Given the description of an element on the screen output the (x, y) to click on. 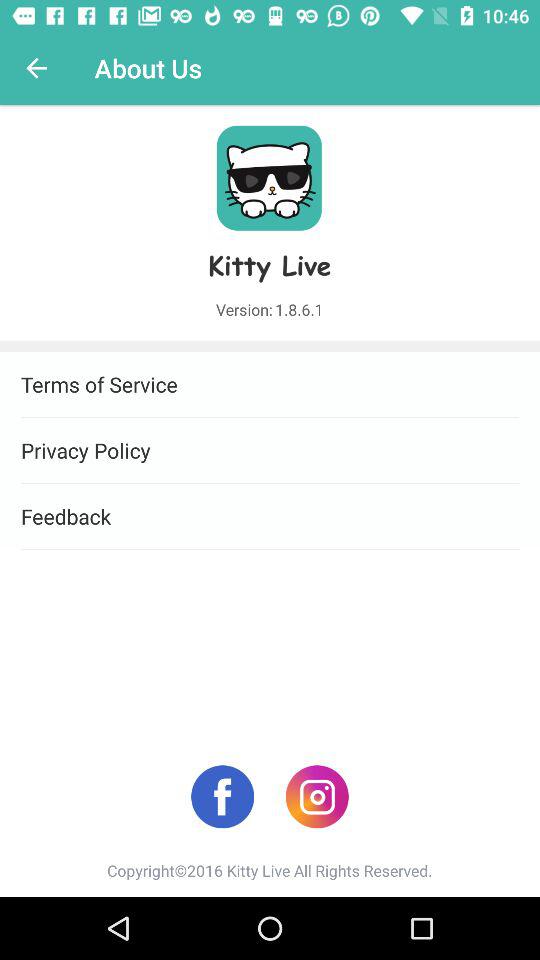
choose icon above terms of service (36, 68)
